Given the description of an element on the screen output the (x, y) to click on. 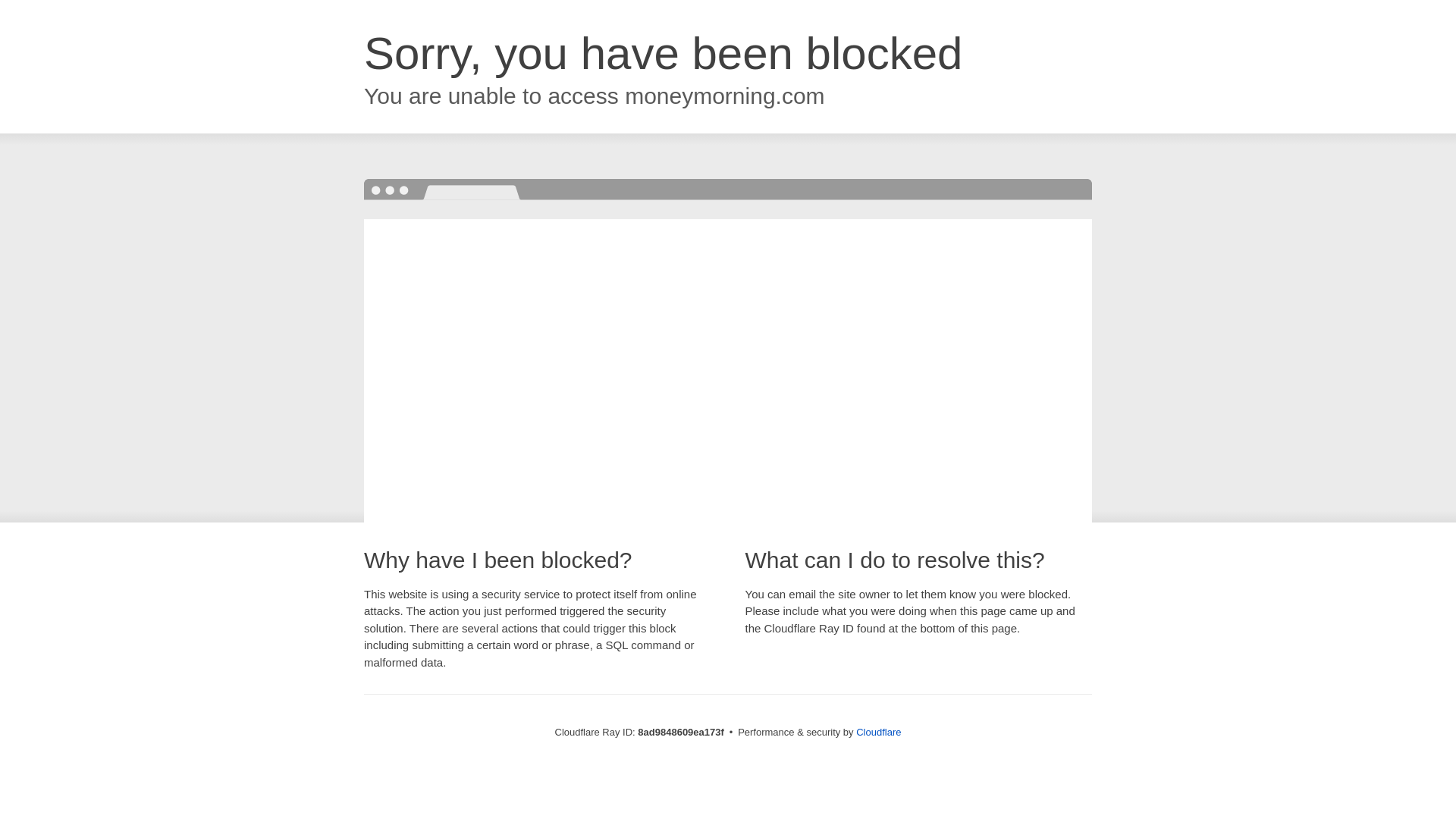
Cloudflare (878, 731)
